Given the description of an element on the screen output the (x, y) to click on. 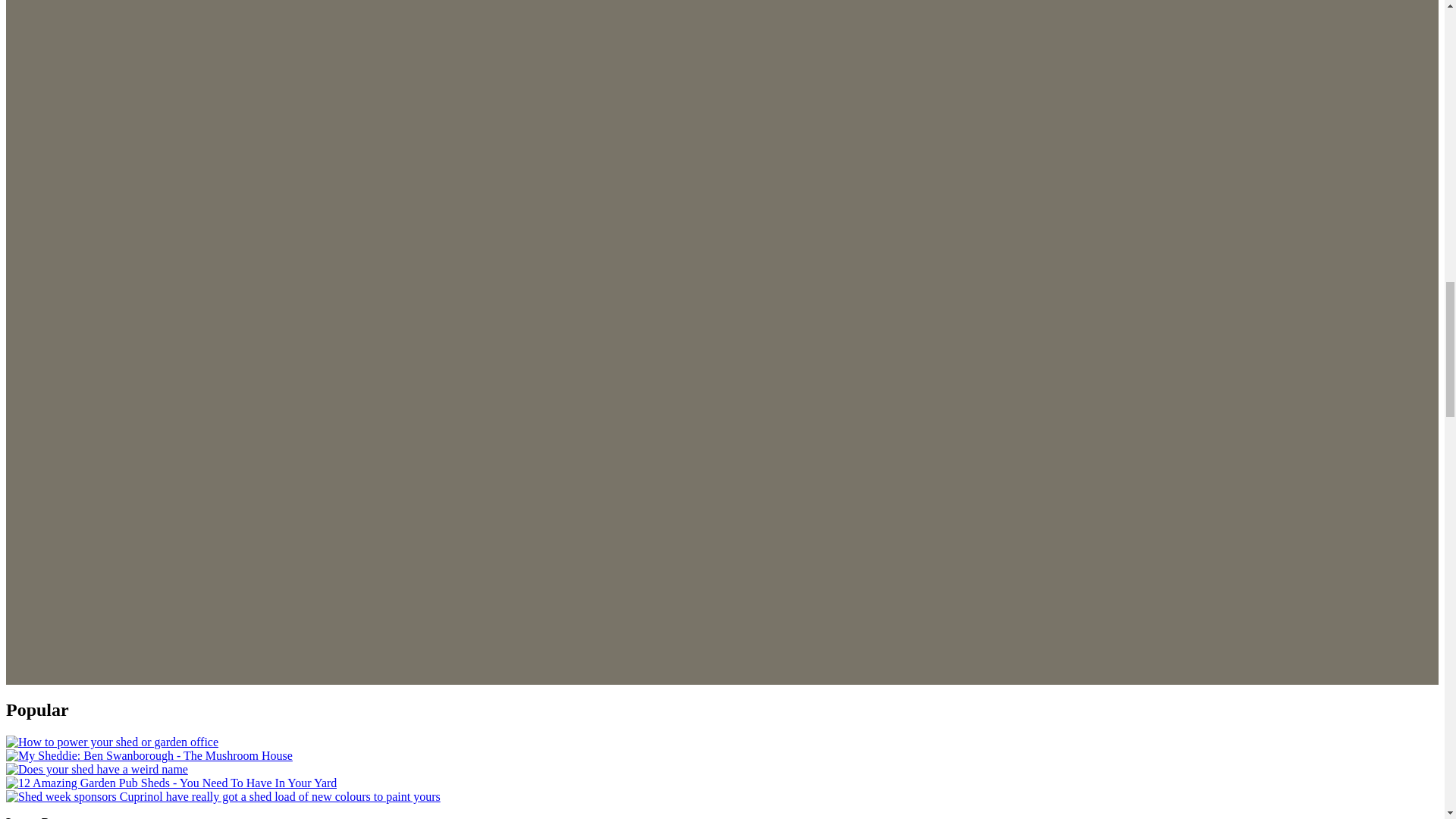
12 Amazing Garden Pub Sheds - You  Need To Have In Your Yard (170, 782)
How to power your shed or garden office (111, 741)
Does your shed have a weird name (96, 768)
My Sheddie: Ben Swanborough - The Mushroom House (148, 755)
